Given the description of an element on the screen output the (x, y) to click on. 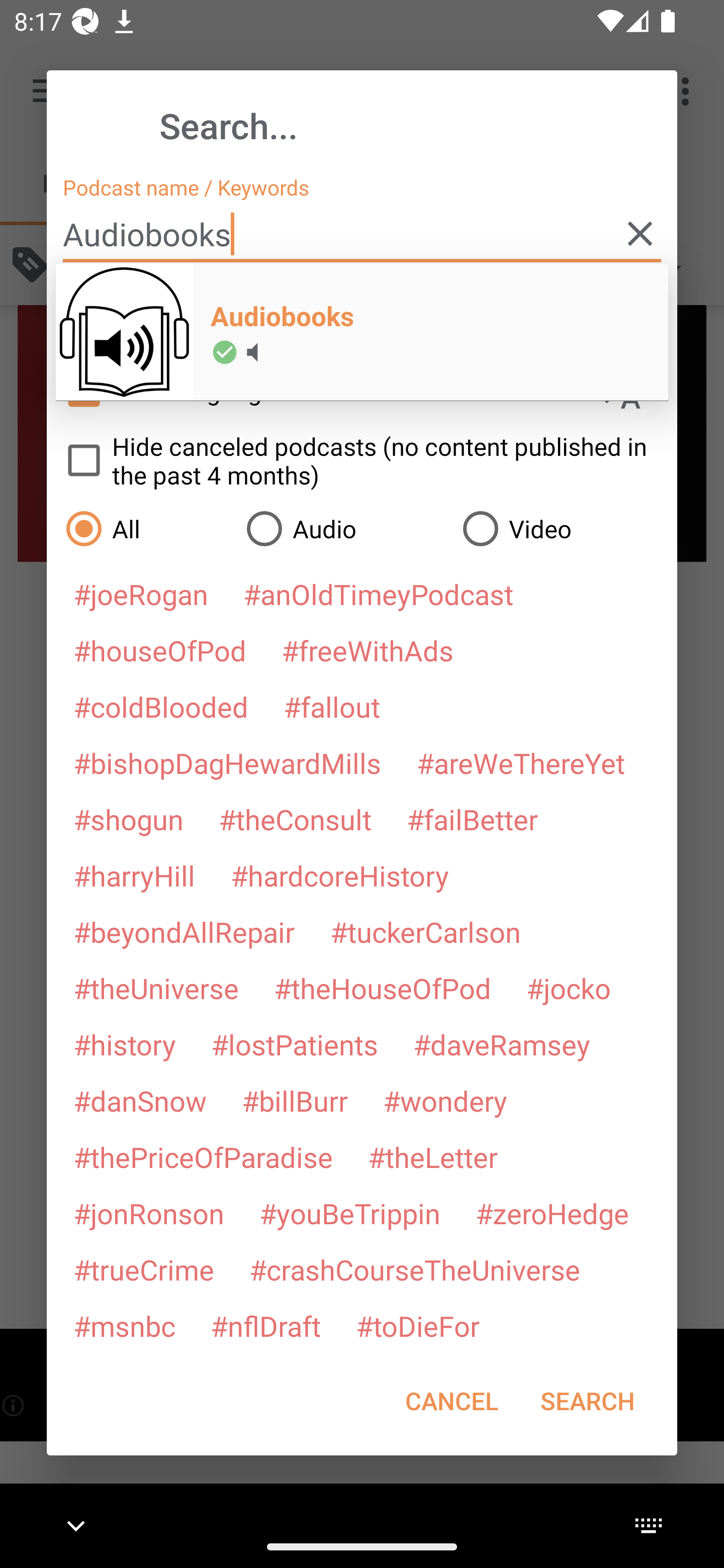
Audiobooks (361, 234)
All (145, 528)
Audio (344, 528)
Video (560, 528)
#joeRogan (140, 594)
#anOldTimeyPodcast (378, 594)
#houseOfPod (159, 650)
#freeWithAds (367, 650)
#coldBlooded (160, 705)
#fallout (331, 705)
#bishopDagHewardMills (227, 762)
#areWeThereYet (521, 762)
#shogun (128, 818)
#theConsult (294, 818)
#failBetter (471, 818)
#harryHill (134, 875)
#hardcoreHistory (339, 875)
#beyondAllRepair (184, 931)
#tuckerCarlson (425, 931)
#theUniverse (155, 987)
#theHouseOfPod (381, 987)
#jocko (568, 987)
#history (124, 1044)
#lostPatients (294, 1044)
#daveRamsey (501, 1044)
#danSnow (139, 1100)
#billBurr (294, 1100)
#wondery (444, 1100)
#thePriceOfParadise (203, 1157)
#theLetter (432, 1157)
#jonRonson (148, 1213)
#youBeTrippin (349, 1213)
#zeroHedge (552, 1213)
#trueCrime (143, 1268)
#crashCourseTheUniverse (414, 1268)
#msnbc (124, 1325)
#nflDraft (265, 1325)
#toDieFor (417, 1325)
CANCEL (451, 1400)
SEARCH (587, 1400)
